Given the description of an element on the screen output the (x, y) to click on. 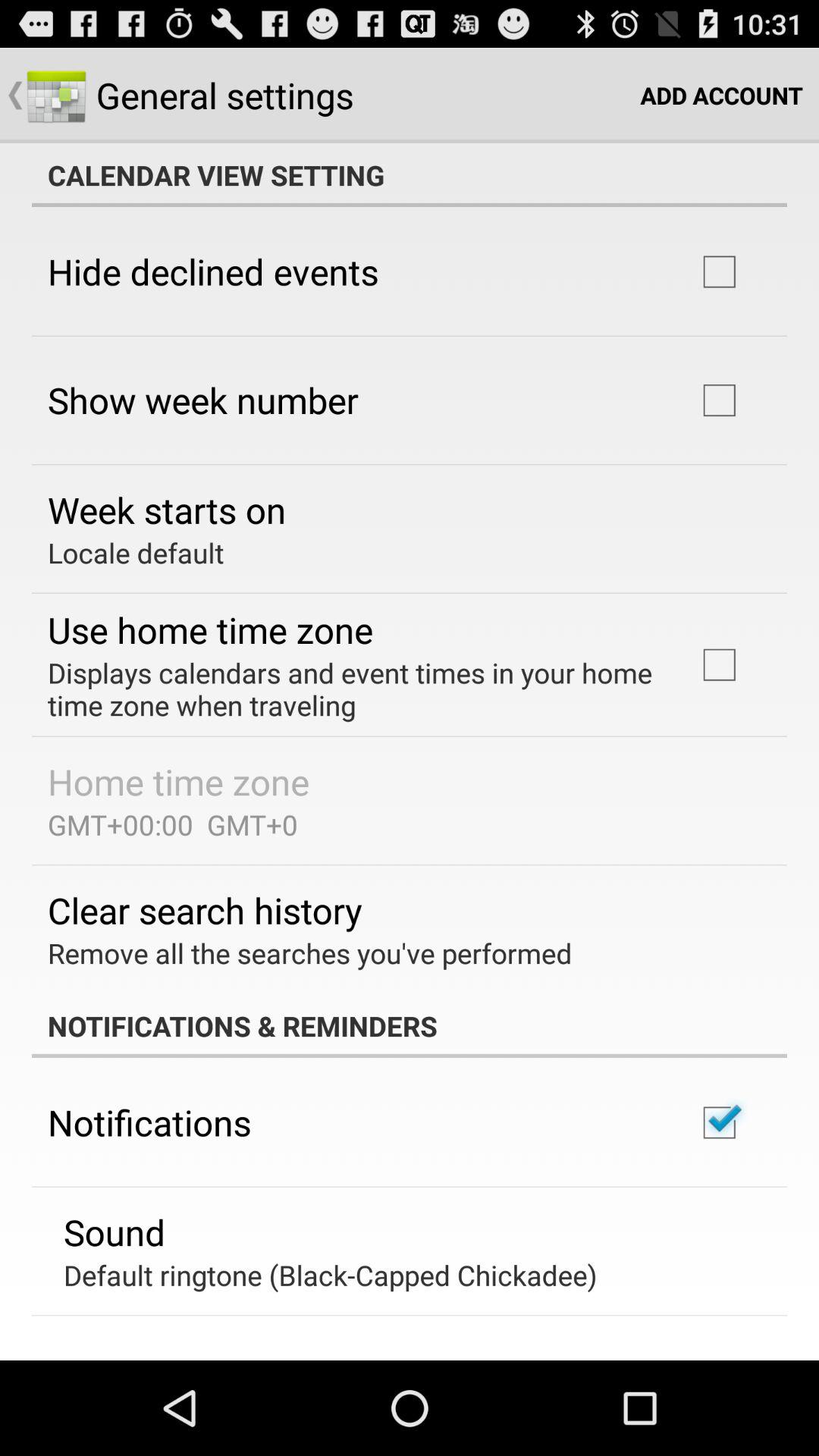
scroll to the show week number item (202, 399)
